Given the description of an element on the screen output the (x, y) to click on. 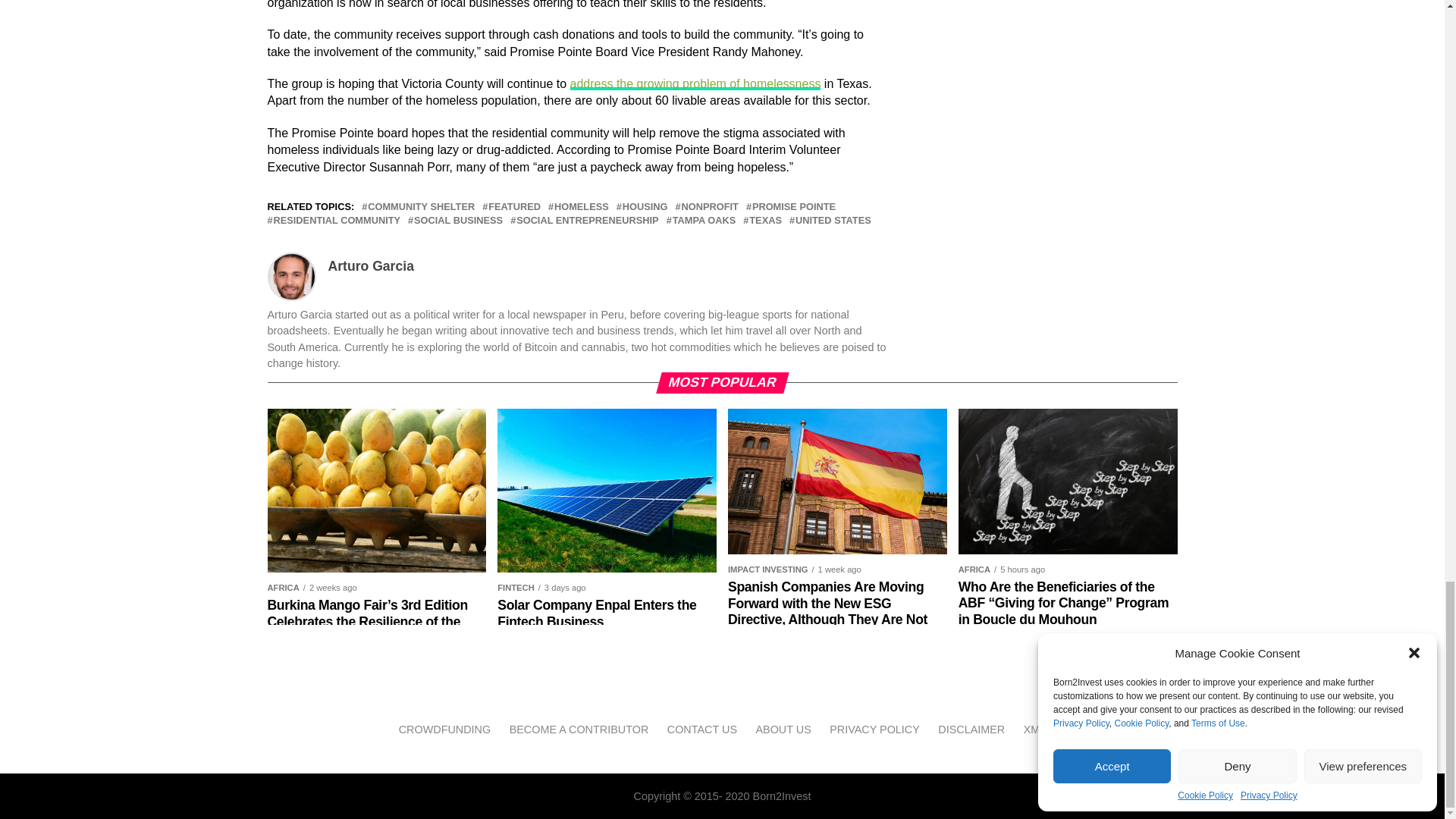
Posts by Arturo Garcia (370, 265)
